Given the description of an element on the screen output the (x, y) to click on. 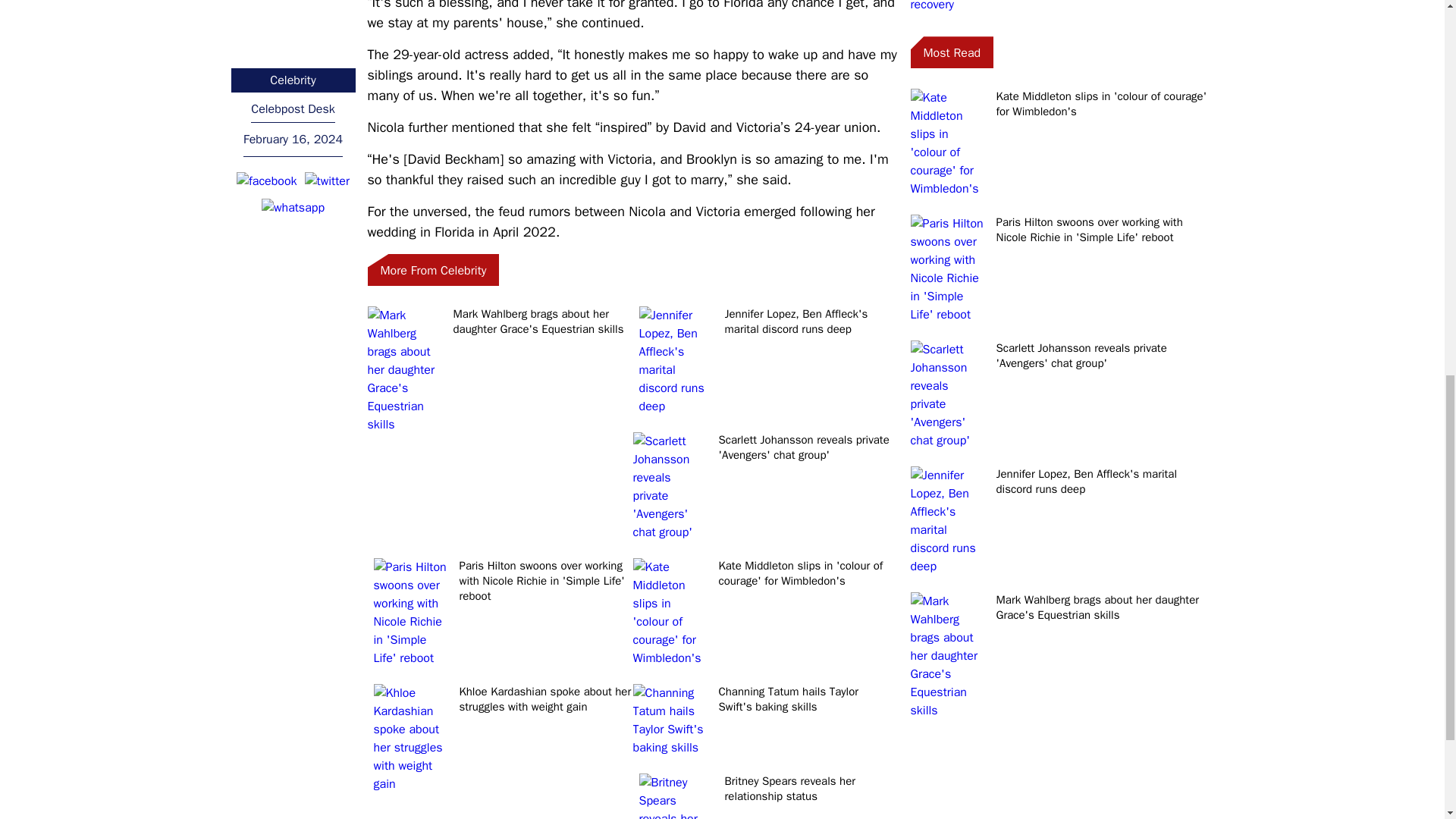
More From Celebrity (432, 269)
